Given the description of an element on the screen output the (x, y) to click on. 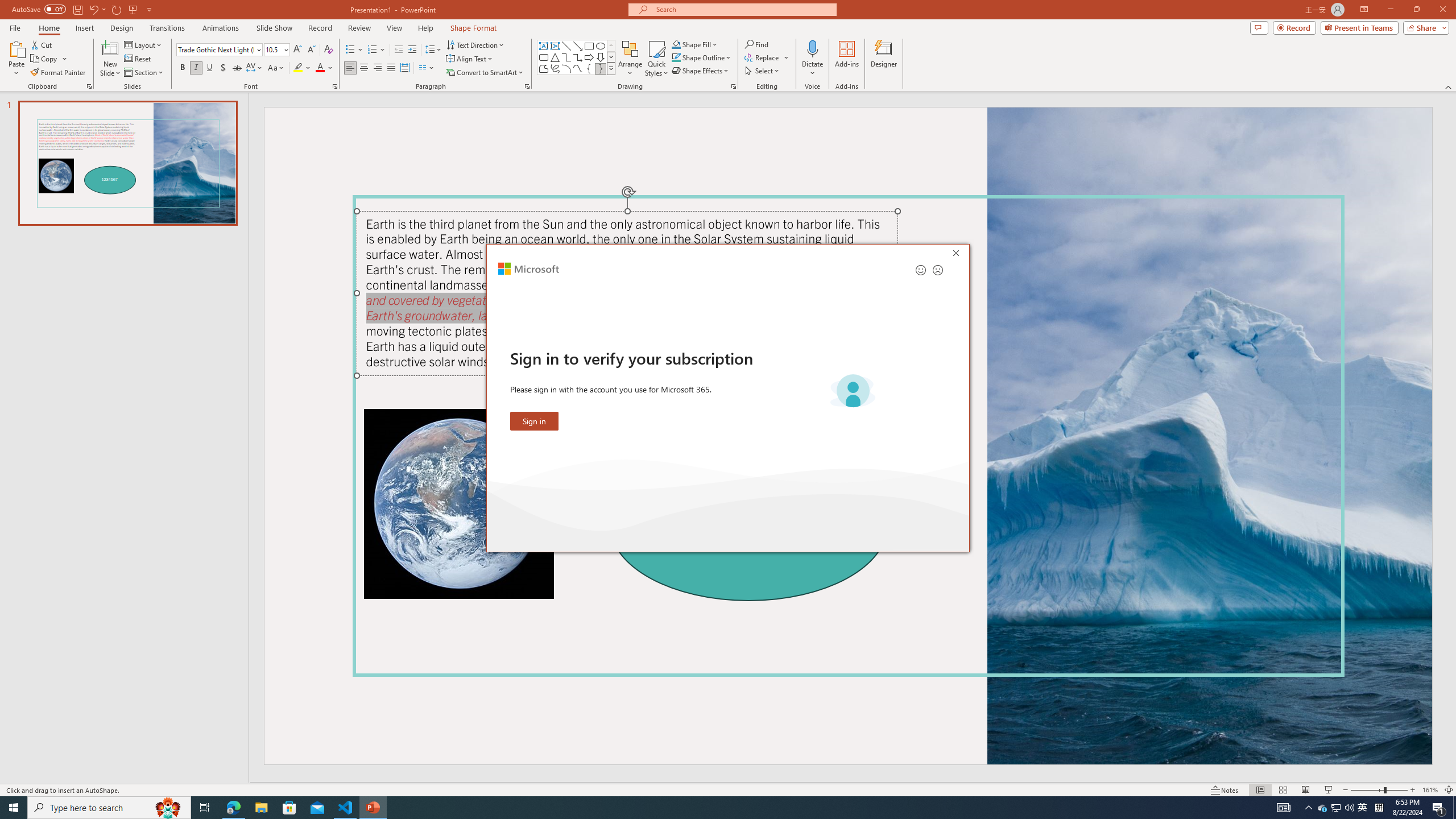
Sign in (534, 420)
Arrange (630, 58)
Paragraph... (526, 85)
Font... (334, 85)
Select (762, 69)
Text Direction (476, 44)
